Given the description of an element on the screen output the (x, y) to click on. 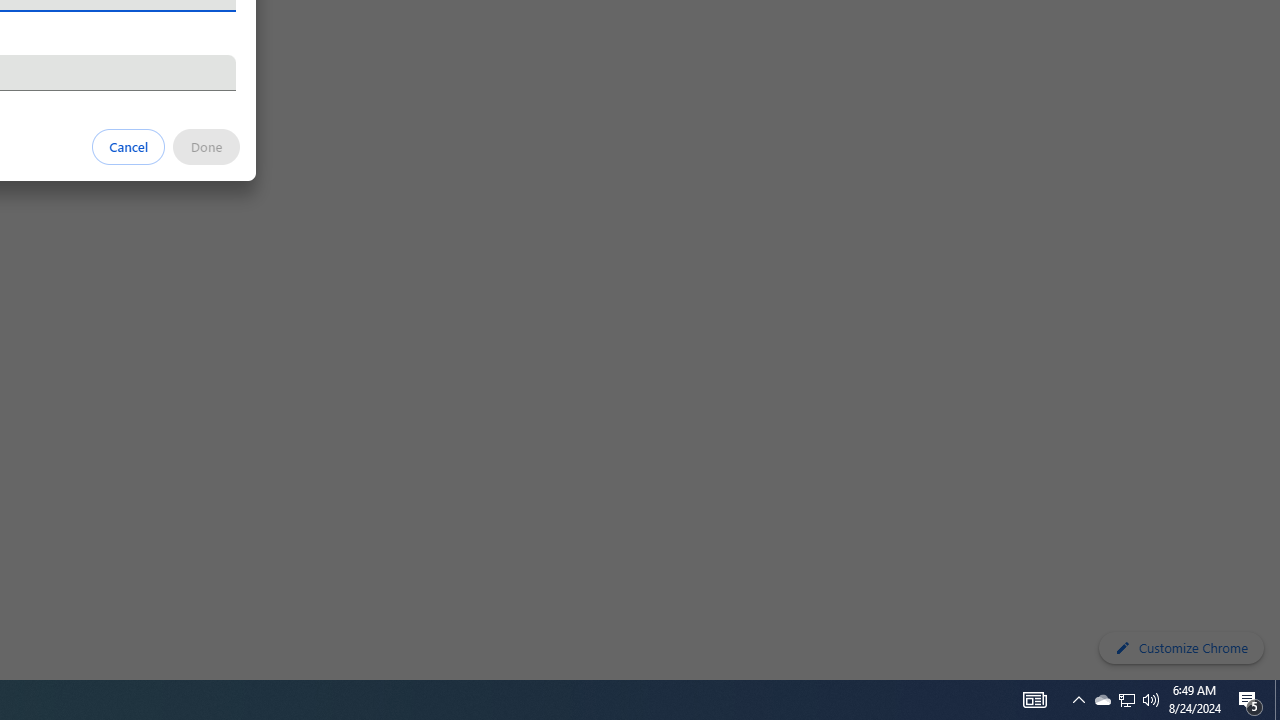
Done (206, 146)
Cancel (129, 146)
